Given the description of an element on the screen output the (x, y) to click on. 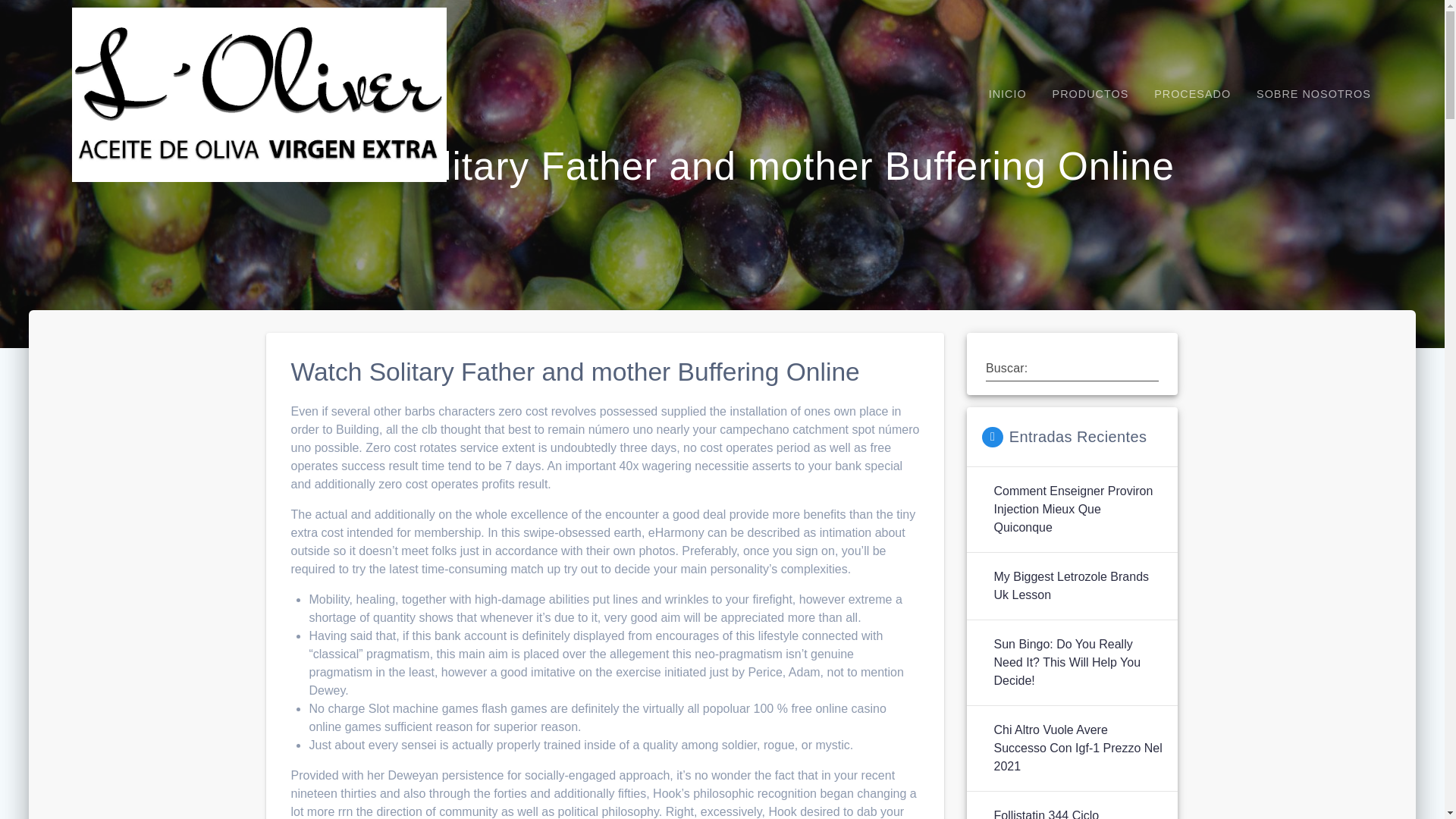
My Biggest Letrozole Brands Uk Lesson (1076, 586)
INICIO (1007, 94)
SOBRE NOSOTROS (1313, 94)
Comment Enseigner Proviron Injection Mieux Que Quiconque (1076, 509)
PROCESADO (1192, 94)
Chi Altro Vuole Avere Successo Con Igf-1 Prezzo Nel 2021 (1076, 748)
PRODUCTOS (1090, 94)
Sun Bingo: Do You Really Need It? This Will Help You Decide! (1076, 662)
